Given the description of an element on the screen output the (x, y) to click on. 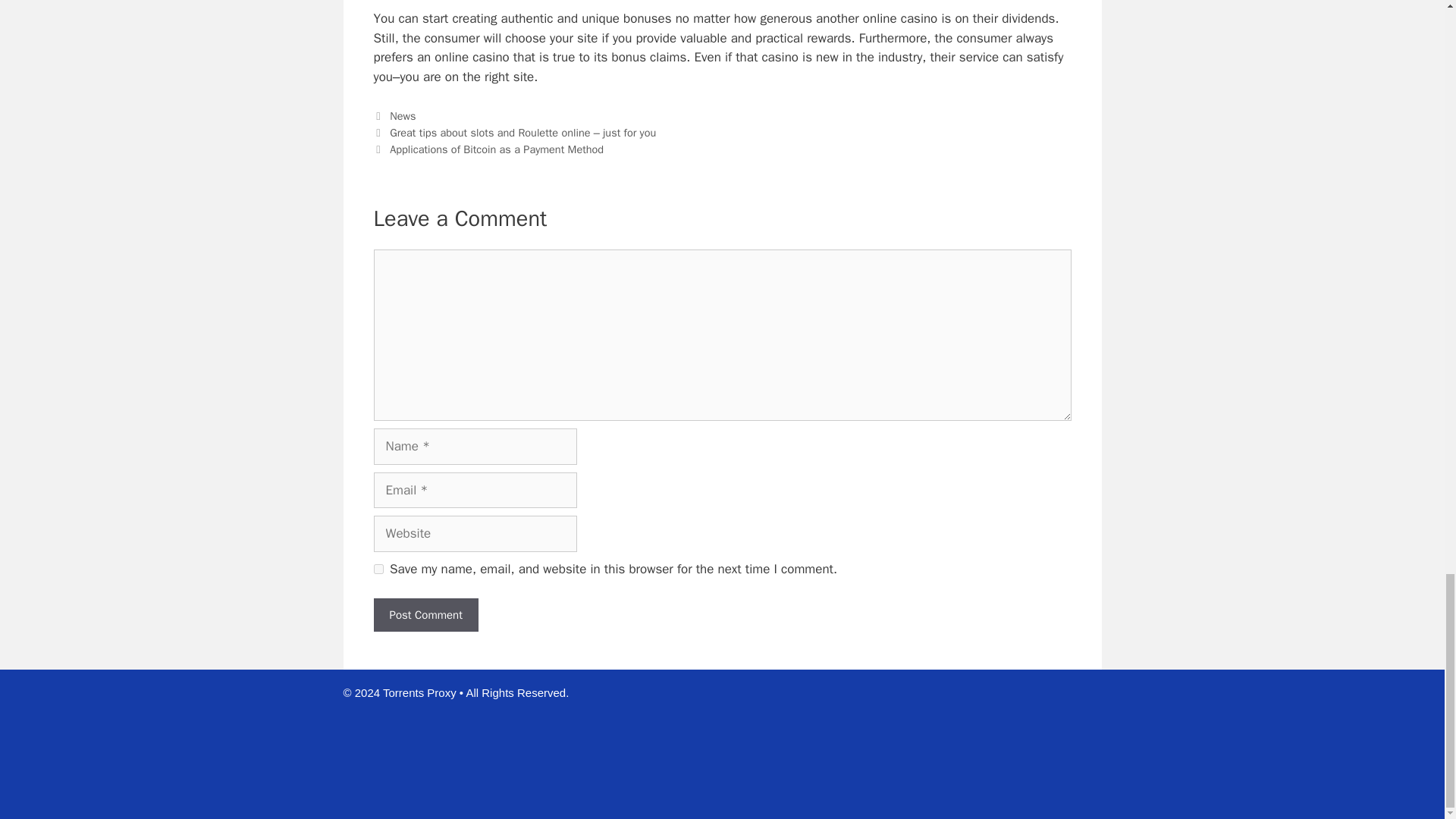
DMCA.com Protection Status (986, 793)
yes (377, 569)
Post Comment (424, 615)
